Given the description of an element on the screen output the (x, y) to click on. 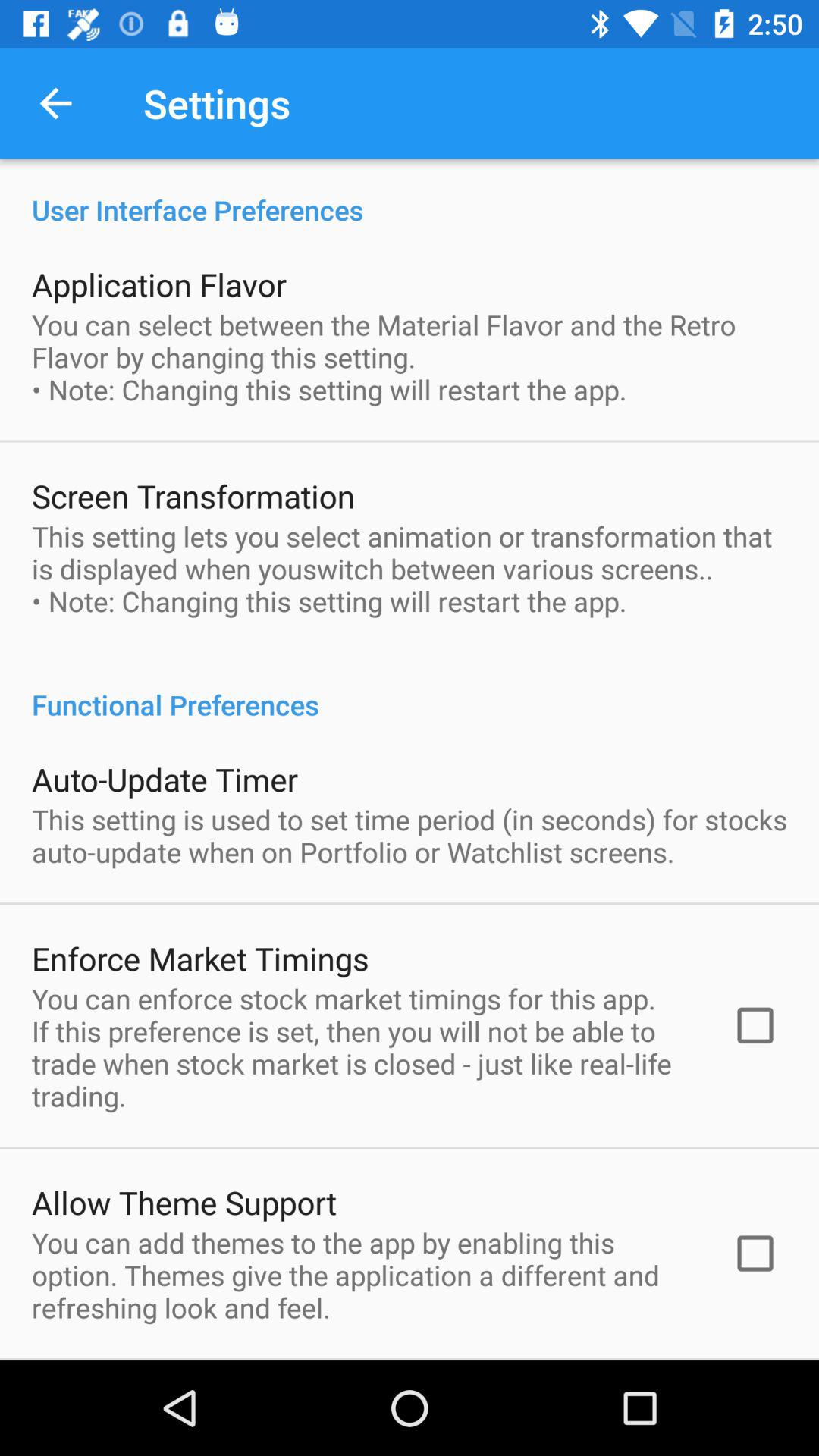
tap the icon above the application flavor icon (409, 193)
